Given the description of an element on the screen output the (x, y) to click on. 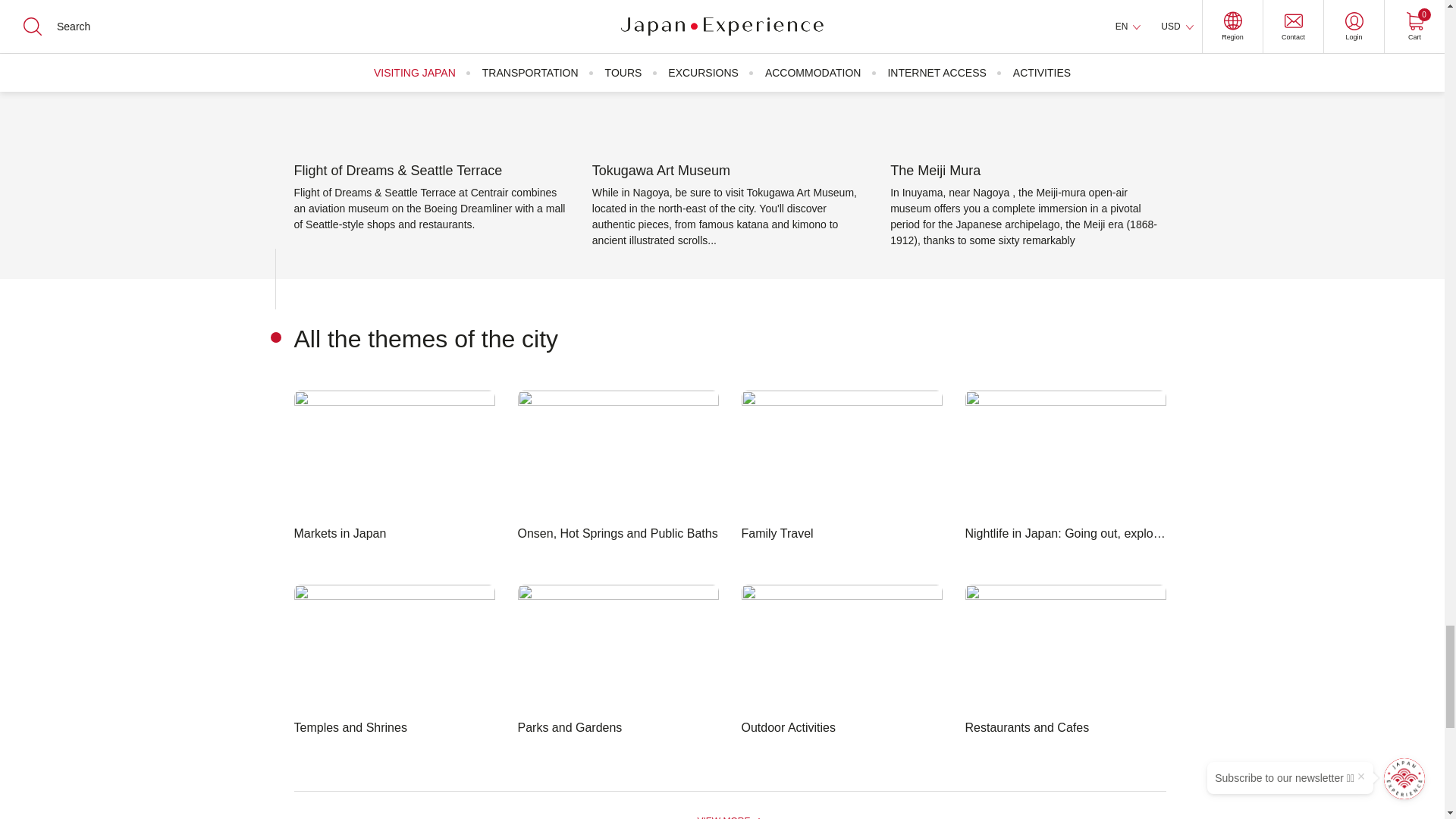
Meijimurabunkazai21 (1027, 70)
